Given the description of an element on the screen output the (x, y) to click on. 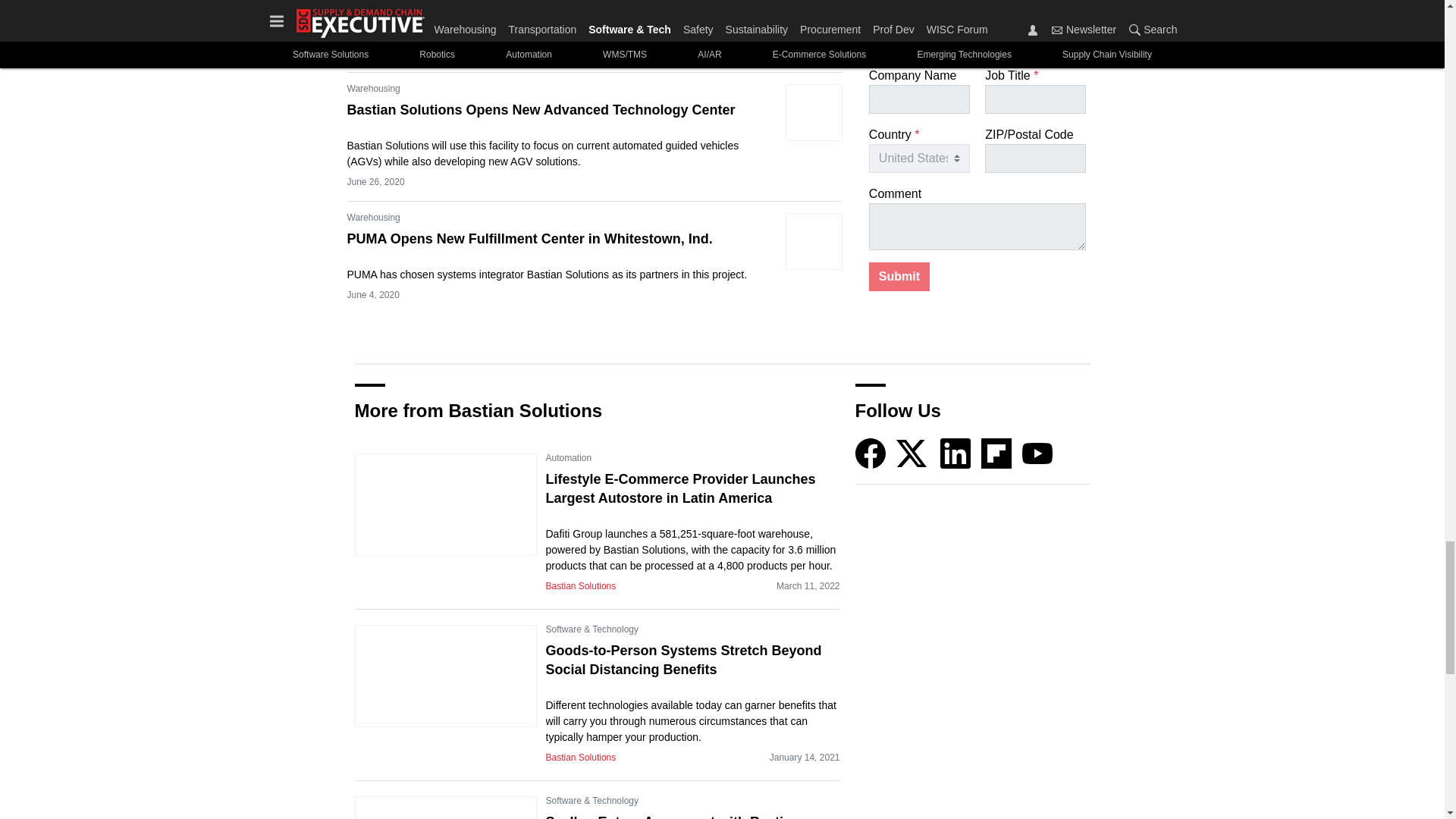
Twitter X icon (911, 453)
LinkedIn icon (955, 453)
Facebook icon (870, 453)
YouTube icon (1037, 453)
Flipboard icon (996, 453)
